Given the description of an element on the screen output the (x, y) to click on. 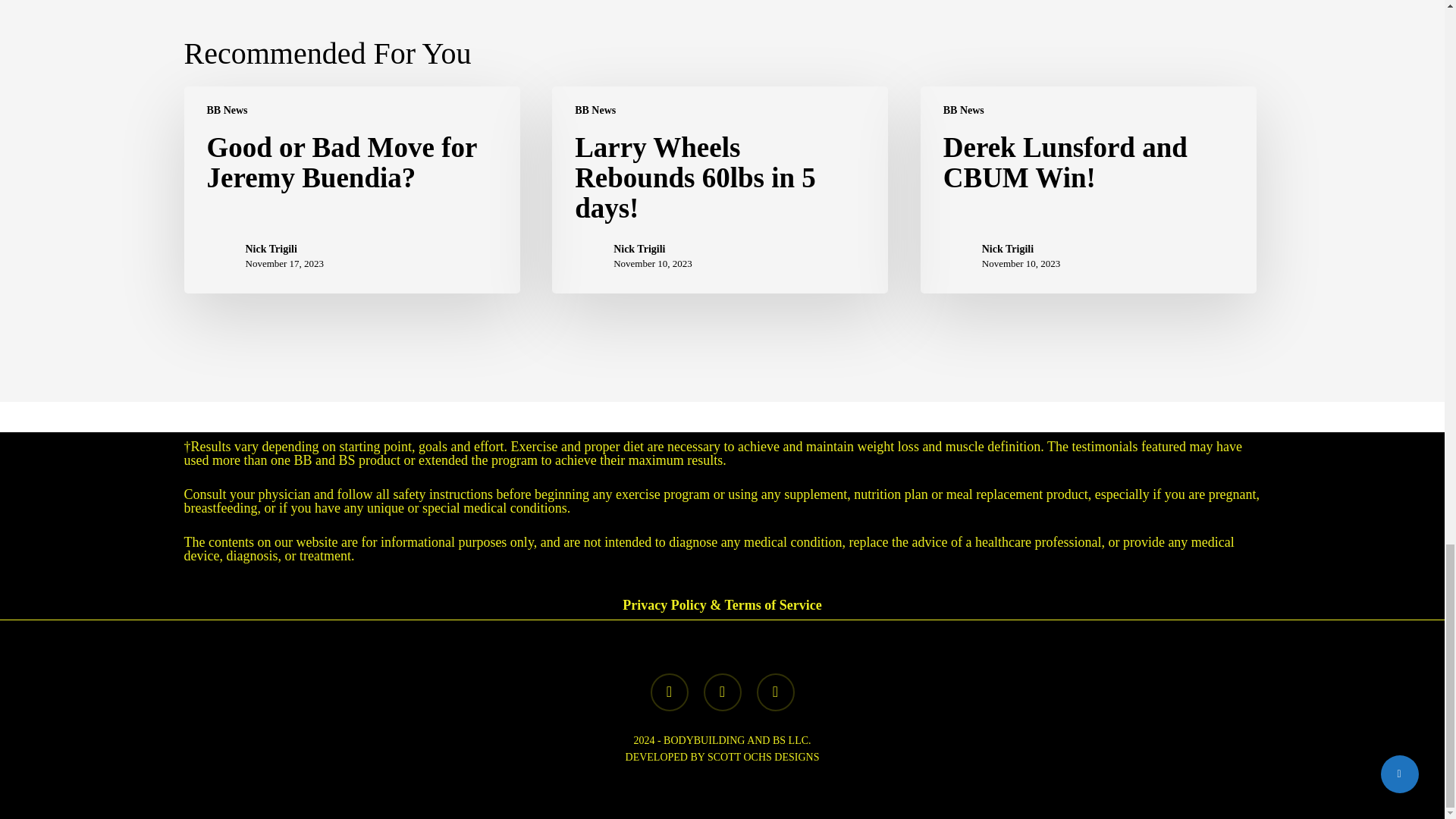
Nick Trigili (652, 249)
Nick Trigili (1021, 249)
Nick Trigili (285, 249)
BB News (595, 110)
BB News (963, 110)
BB News (226, 110)
